Given the description of an element on the screen output the (x, y) to click on. 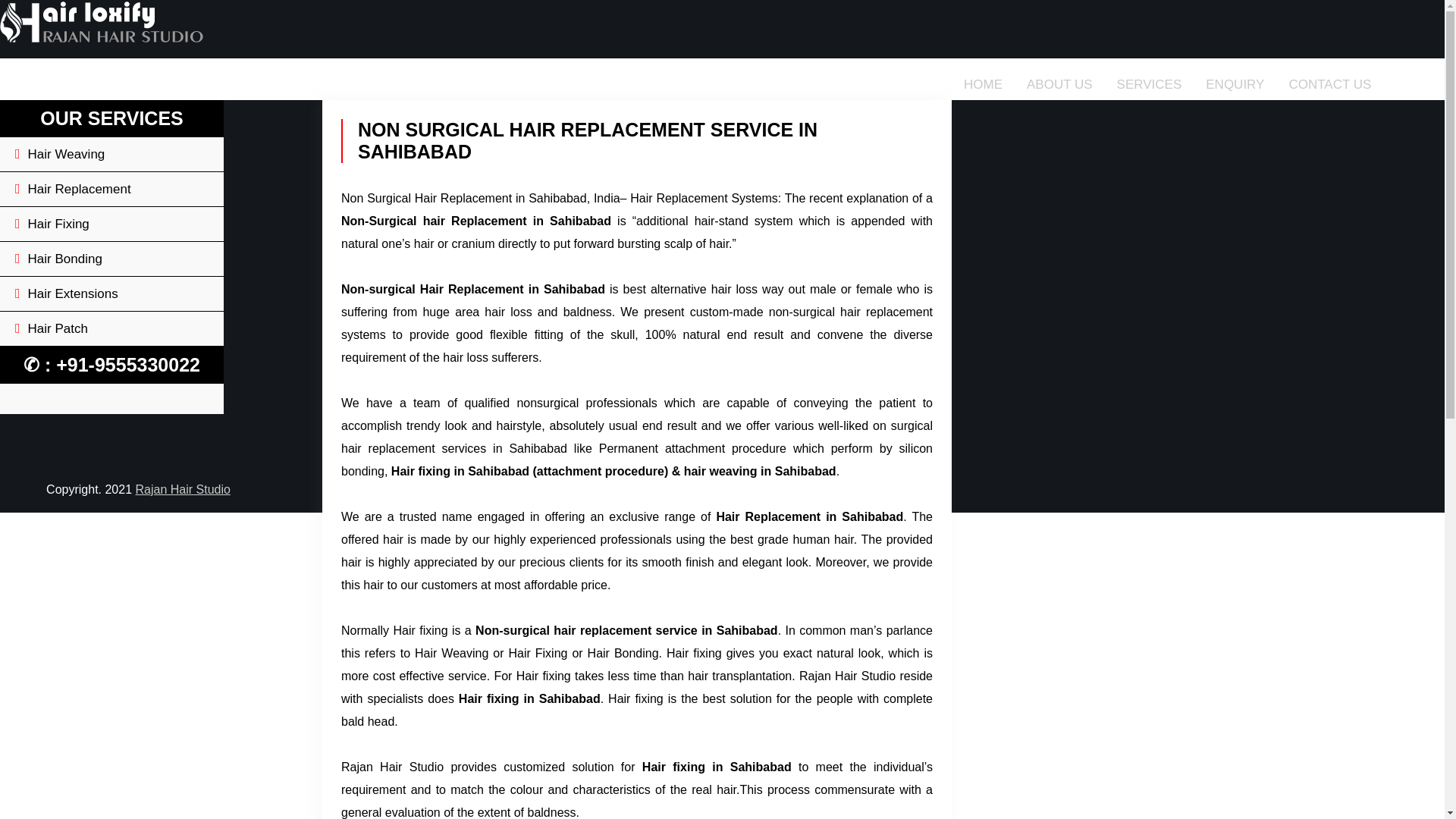
Hair Weaving (112, 154)
ENQUIRY (1234, 84)
Rajan Hair Studio (182, 489)
SERVICES (1149, 84)
Hair Bonding (112, 258)
Hair Extensions (112, 294)
HOME (983, 84)
Hair Fixing (112, 224)
ABOUT US (1059, 84)
Hair Patch (112, 329)
Hair Replacement (112, 189)
CONTACT US (1329, 84)
